Given the description of an element on the screen output the (x, y) to click on. 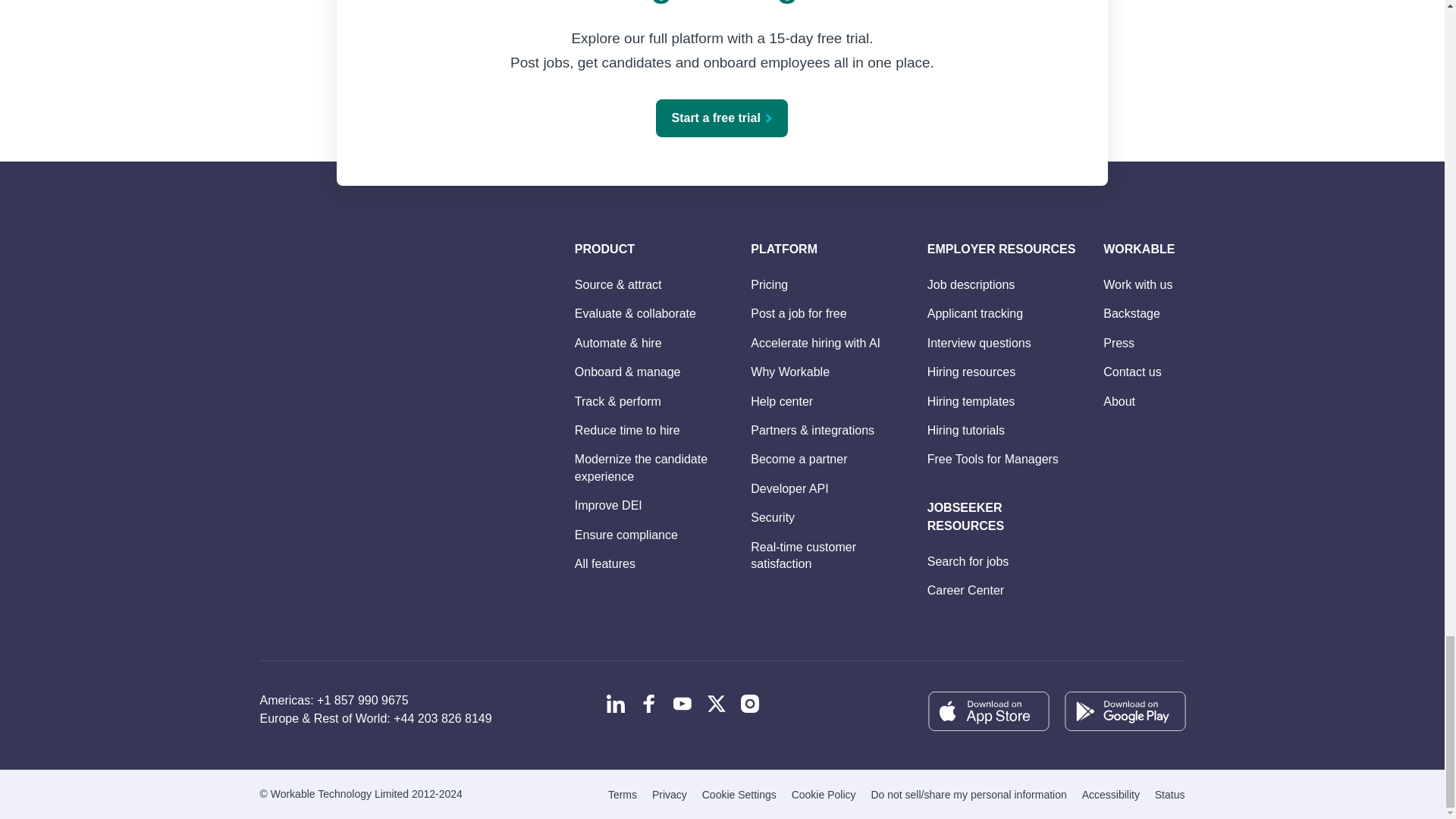
Workable on Facebook (649, 703)
Workable on Youtube (681, 703)
Download Workable on App Store (987, 711)
Workable on Instagram (749, 703)
Workable on Linkedin (615, 703)
Workable on X (716, 703)
